Given the description of an element on the screen output the (x, y) to click on. 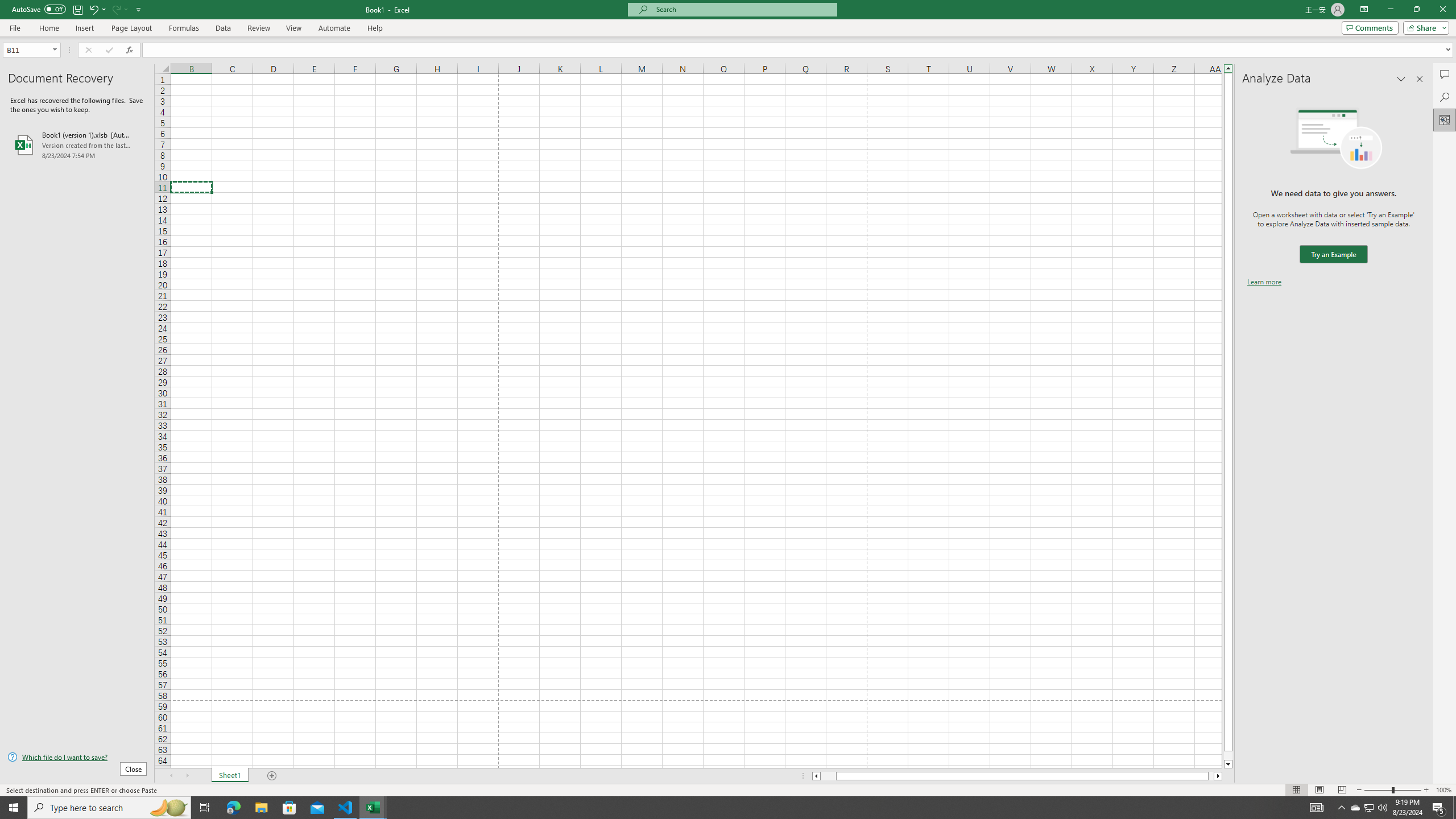
Learn more (1264, 281)
